Given the description of an element on the screen output the (x, y) to click on. 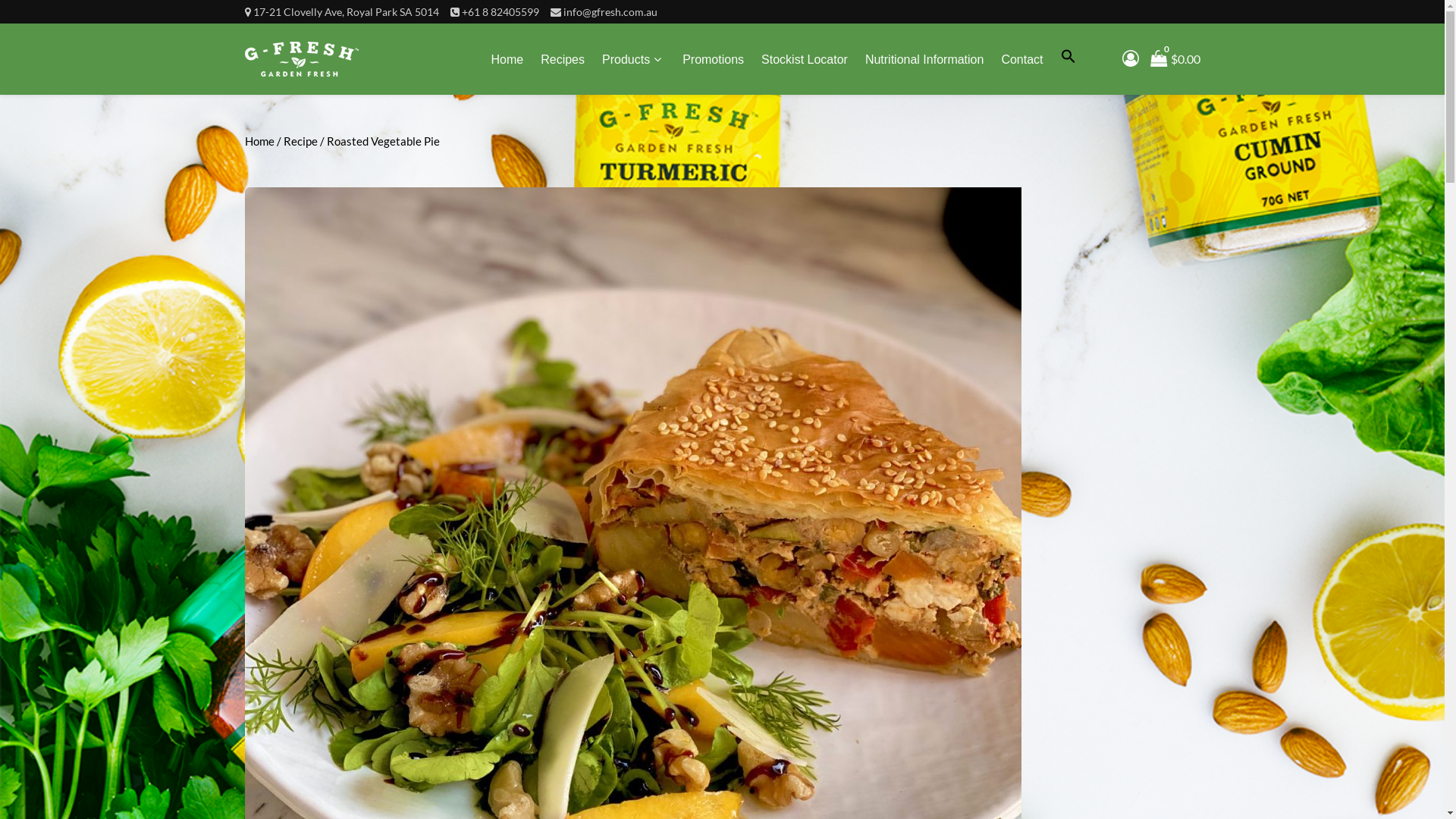
Recipes Element type: text (562, 59)
Nutritional Information Element type: text (924, 59)
Herbs And Spices Element type: text (700, 111)
Contact Element type: text (1021, 59)
Stockist Locator Element type: text (804, 59)
Home Element type: text (507, 59)
0
$0.00 Element type: text (1174, 59)
Traditional Jars Element type: text (897, 111)
+61 8 82405599 Element type: text (499, 11)
Recipe Element type: text (300, 140)
Home Element type: text (258, 140)
info@gfresh.com.au Element type: text (609, 11)
Promotions Element type: text (712, 59)
Products Element type: text (633, 59)
